Given the description of an element on the screen output the (x, y) to click on. 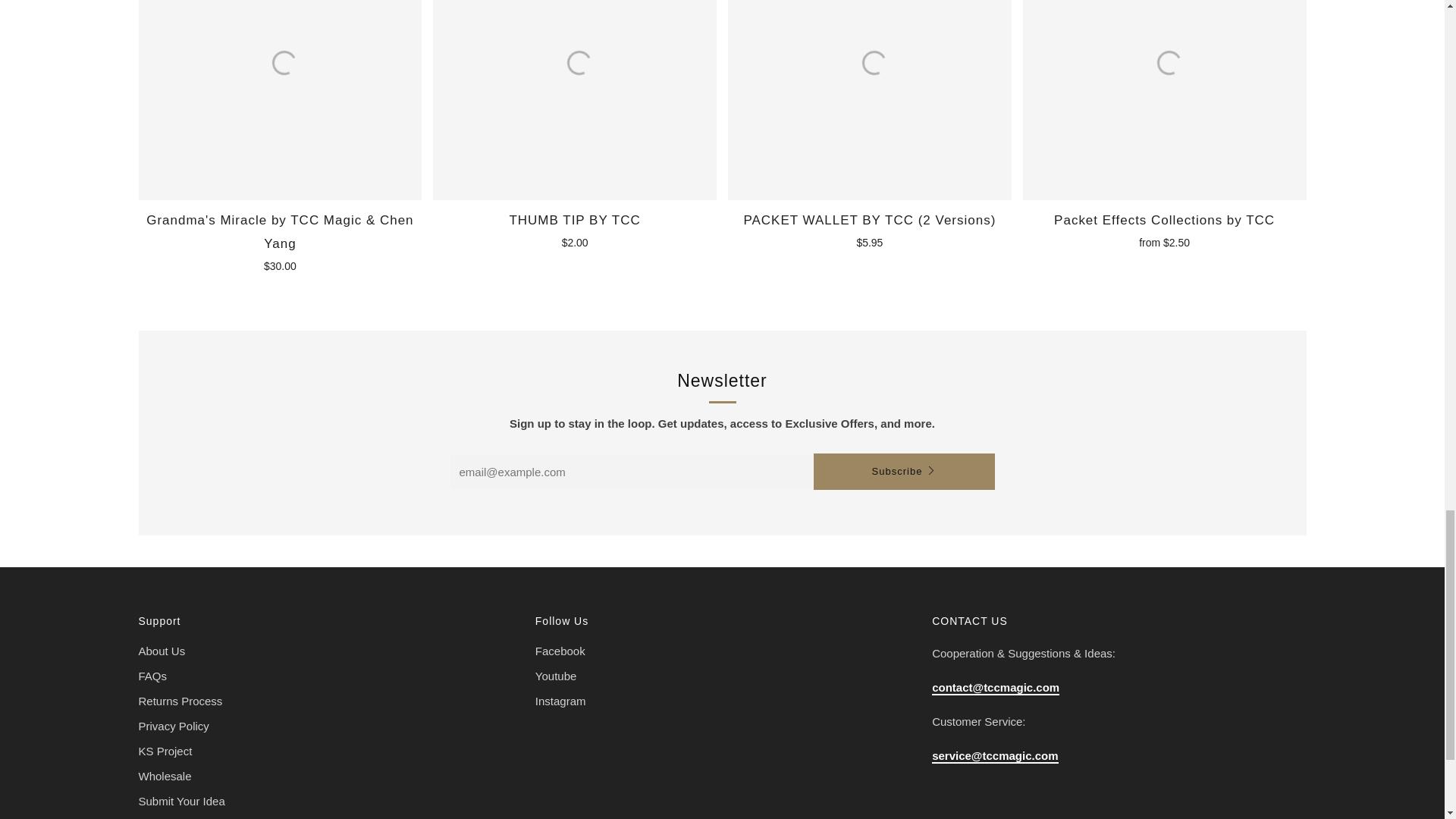
Packet Effects Collections by TCC (1164, 228)
THUMB TIP BY TCC (574, 100)
THUMB TIP BY TCC (574, 228)
Packet Effects Collections by TCC (1164, 100)
